Given the description of an element on the screen output the (x, y) to click on. 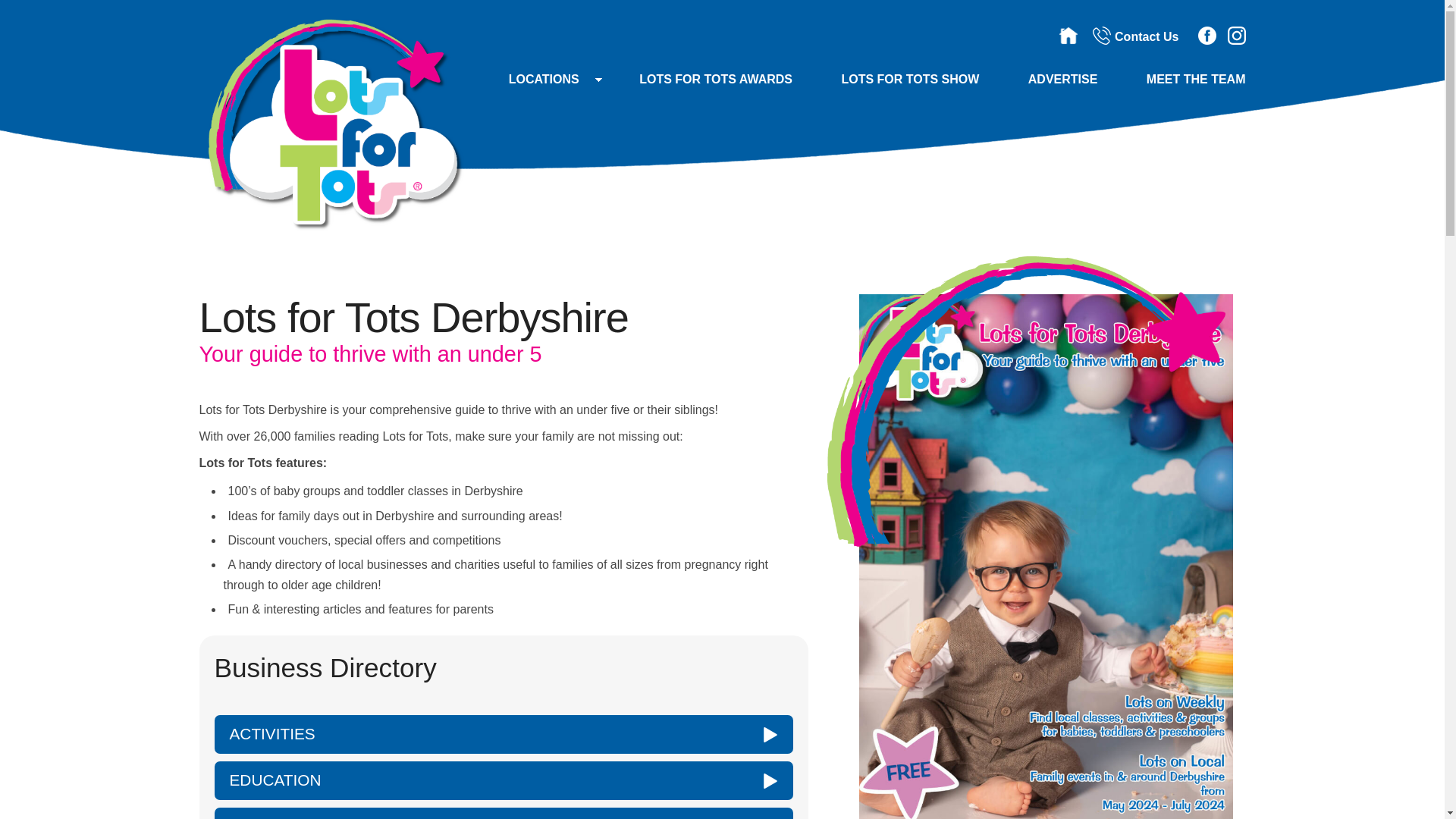
ACTIVITIES (503, 733)
Lots for Tots (331, 226)
Follow us on Instagram (1235, 35)
Your guide to thrive with an under 5 (331, 122)
Lots for Tots (1026, 401)
Contact Us (1135, 36)
Follow us on Facebook (1206, 35)
MEET THE TEAM (1185, 79)
LOCATIONS (544, 79)
EDUCATION (503, 780)
ADVERTISE (1063, 79)
Home (1068, 35)
LOTS FOR TOTS AWARDS (715, 79)
CHARITIES (503, 813)
Contact Us (1101, 35)
